Given the description of an element on the screen output the (x, y) to click on. 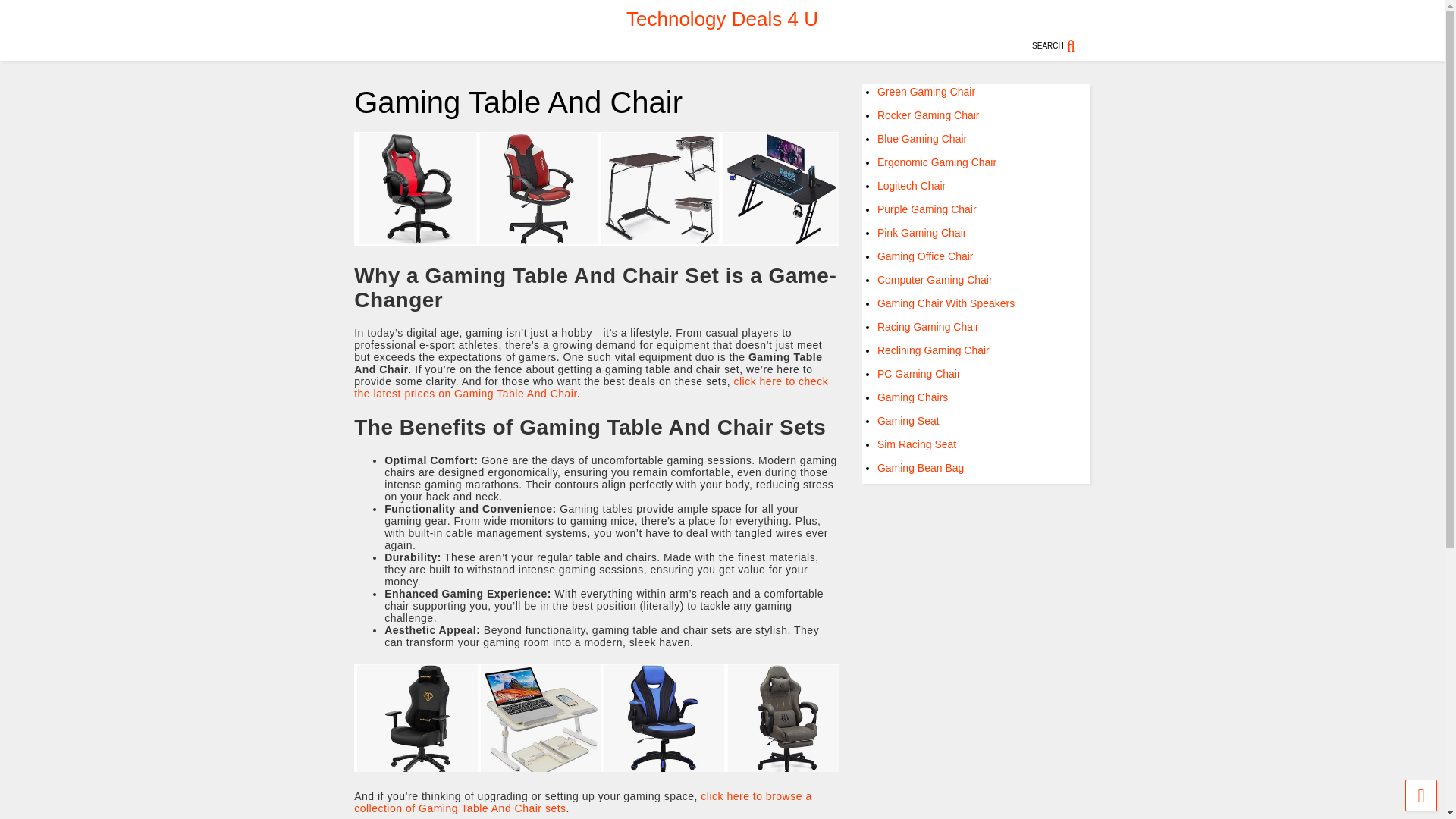
Gaming Bean Bag (920, 467)
Gaming Chairs (912, 397)
Reclining Gaming Chair (933, 349)
Racing Gaming Chair (927, 326)
Purple Gaming Chair (926, 209)
Ergonomic Gaming Chair (936, 162)
PC Gaming Chair (918, 373)
Blue Gaming Chair (921, 138)
Computer Gaming Chair (934, 279)
Gaming Seat (908, 420)
Sim Racing Seat (916, 444)
Gaming Chair With Speakers (945, 303)
SEARCH (1061, 46)
